Given the description of an element on the screen output the (x, y) to click on. 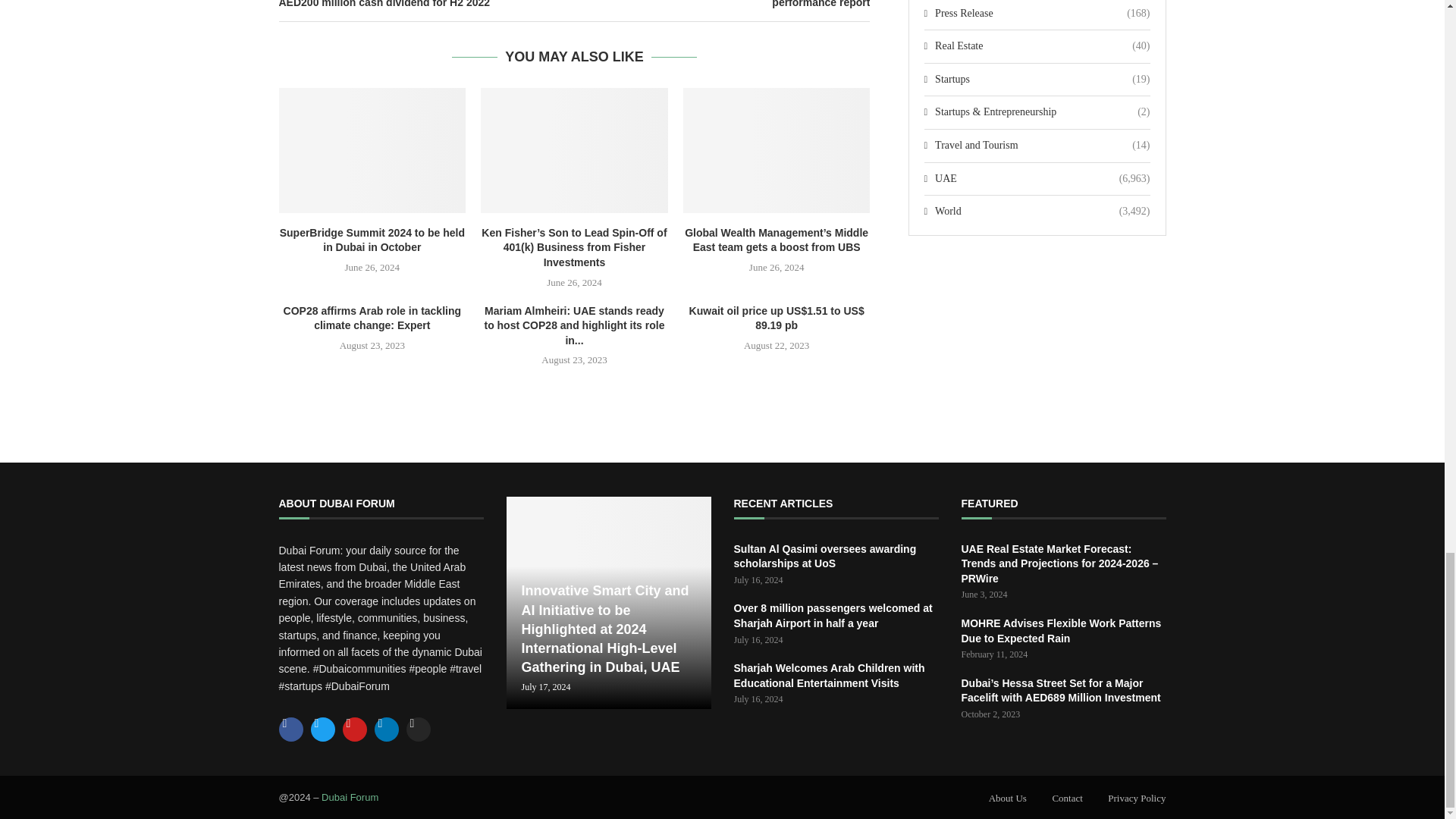
SuperBridge Summit 2024 to be held in Dubai in October (372, 149)
